Given the description of an element on the screen output the (x, y) to click on. 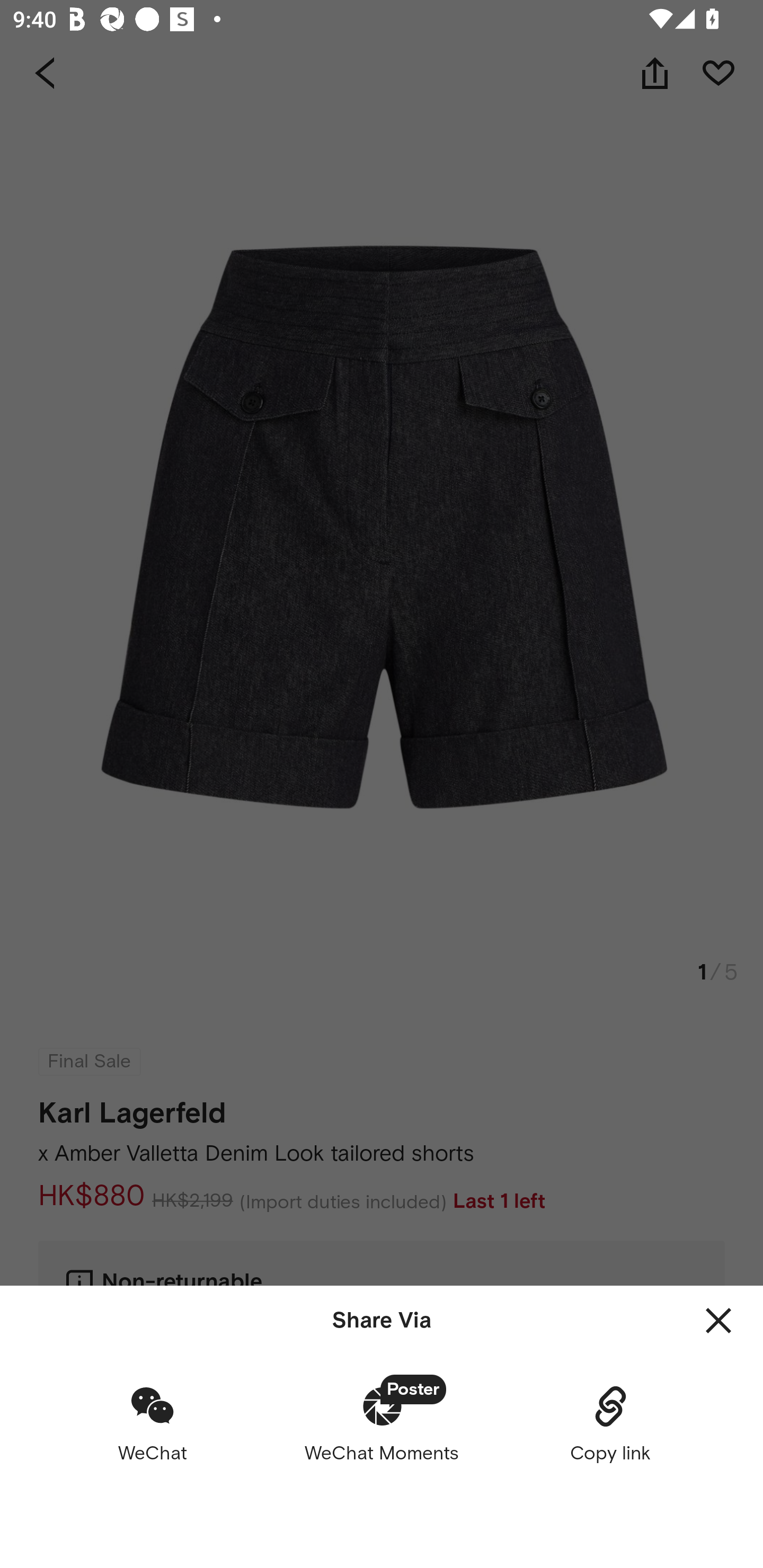
WeChat (152, 1423)
WeChat Moments Poster (381, 1423)
Copy link (609, 1423)
